Given the description of an element on the screen output the (x, y) to click on. 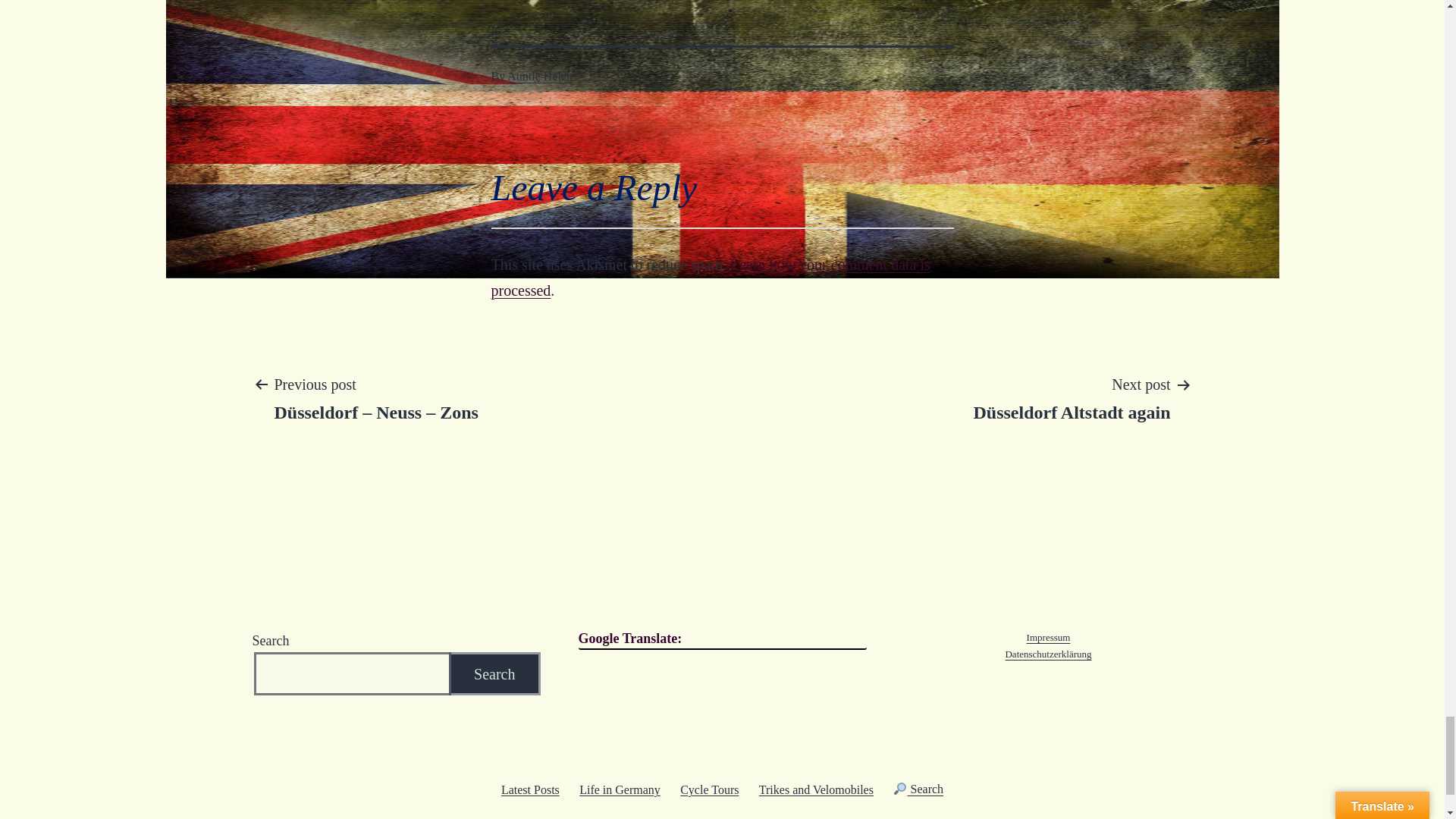
Auntie Helen (539, 75)
Life in Germany (619, 789)
Search (918, 789)
Cycle Tours (709, 789)
Trikes and Velomobiles (816, 789)
Learn how your comment data is processed (711, 277)
Latest Posts (530, 789)
Impressum (1048, 636)
Search (494, 673)
